Given the description of an element on the screen output the (x, y) to click on. 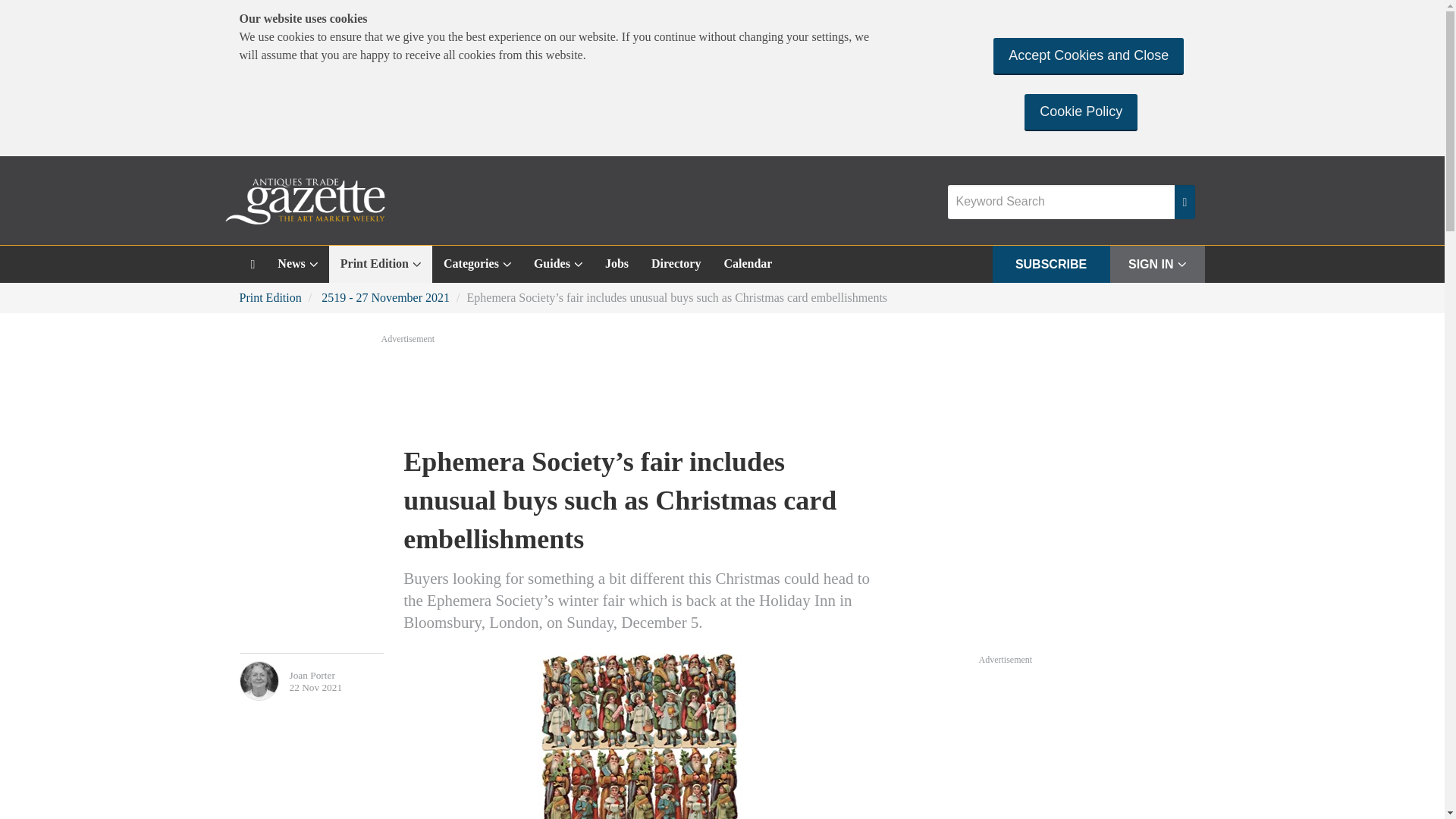
3rd party ad content (721, 387)
Keyword Search (1060, 202)
Cookie Policy (1081, 111)
3rd party ad content (1091, 742)
News (297, 263)
